Given the description of an element on the screen output the (x, y) to click on. 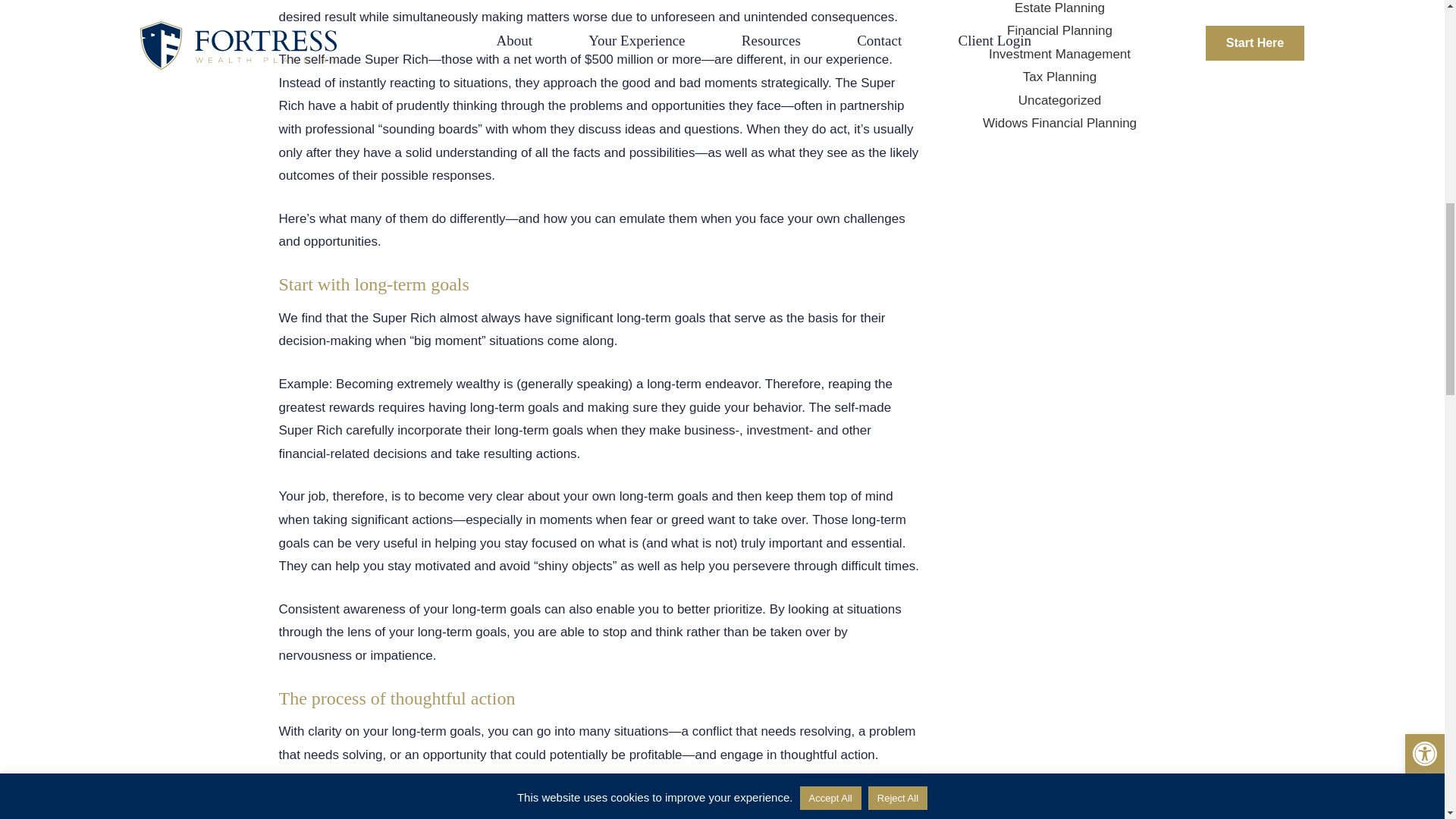
Tax Planning (1059, 76)
Financial Planning (1059, 30)
Uncategorized (1059, 100)
Widows Financial Planning (1059, 123)
Investment Management (1059, 53)
Estate Planning (1059, 7)
